Given the description of an element on the screen output the (x, y) to click on. 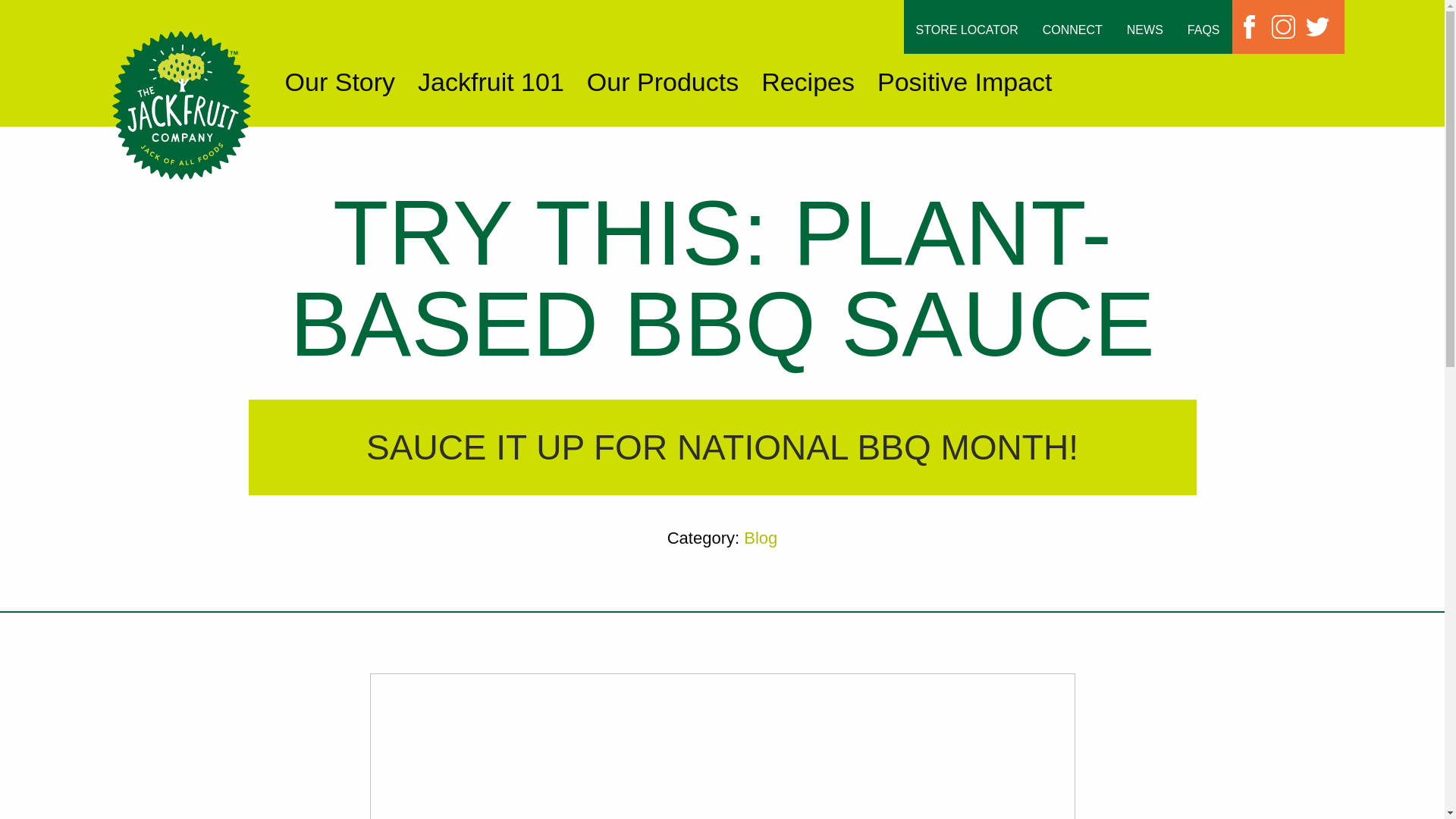
CONNECT (1072, 30)
STORE LOCATOR (967, 30)
Jackfruit 101 (490, 82)
Our Story (339, 82)
Blog (760, 537)
NEWS (1144, 30)
FAQS (1202, 30)
Recipes (807, 82)
Positive Impact (964, 82)
Our Products (662, 82)
